Given the description of an element on the screen output the (x, y) to click on. 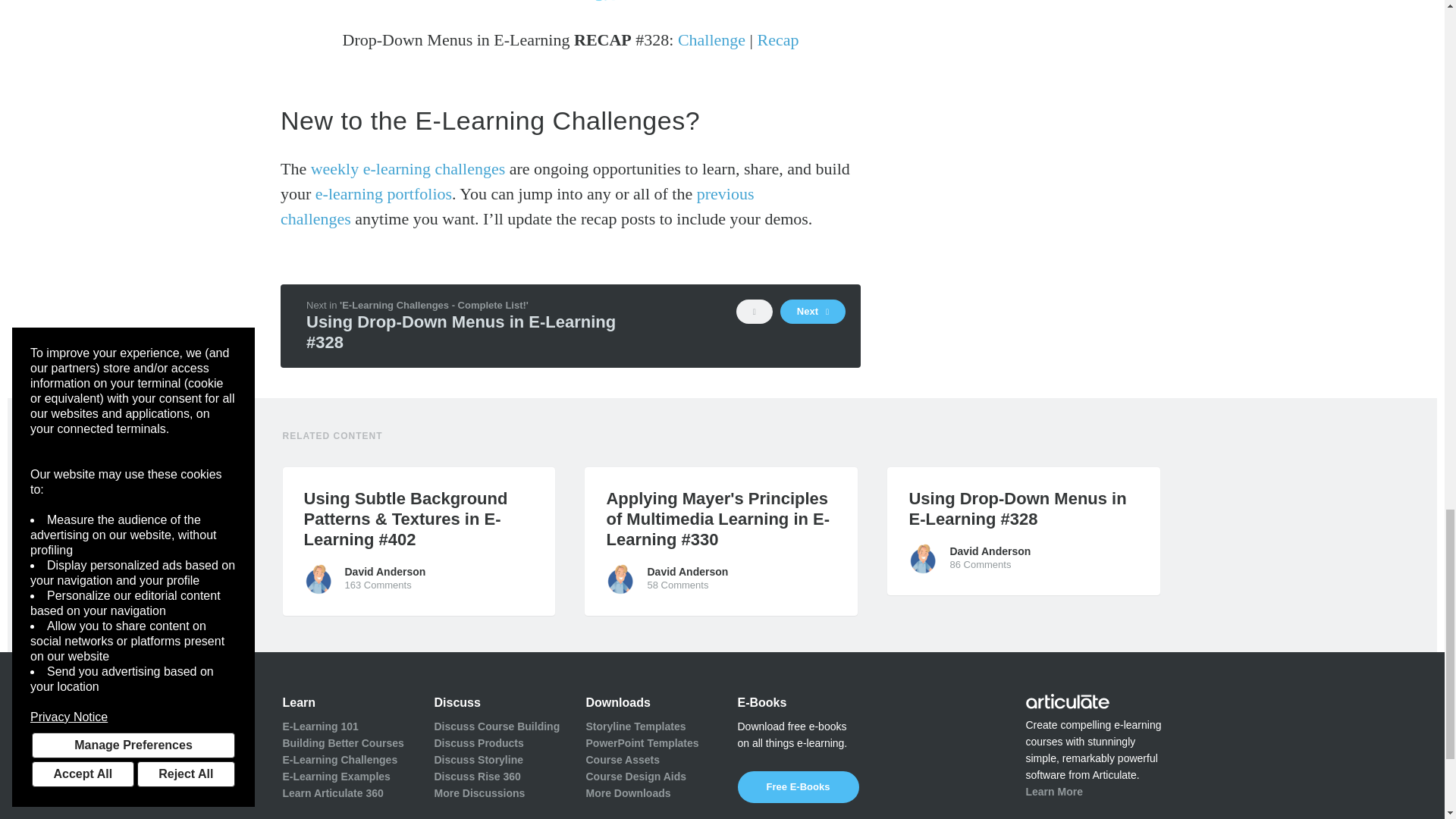
David Anderson (620, 579)
David Anderson (923, 558)
David Anderson (317, 579)
